Given the description of an element on the screen output the (x, y) to click on. 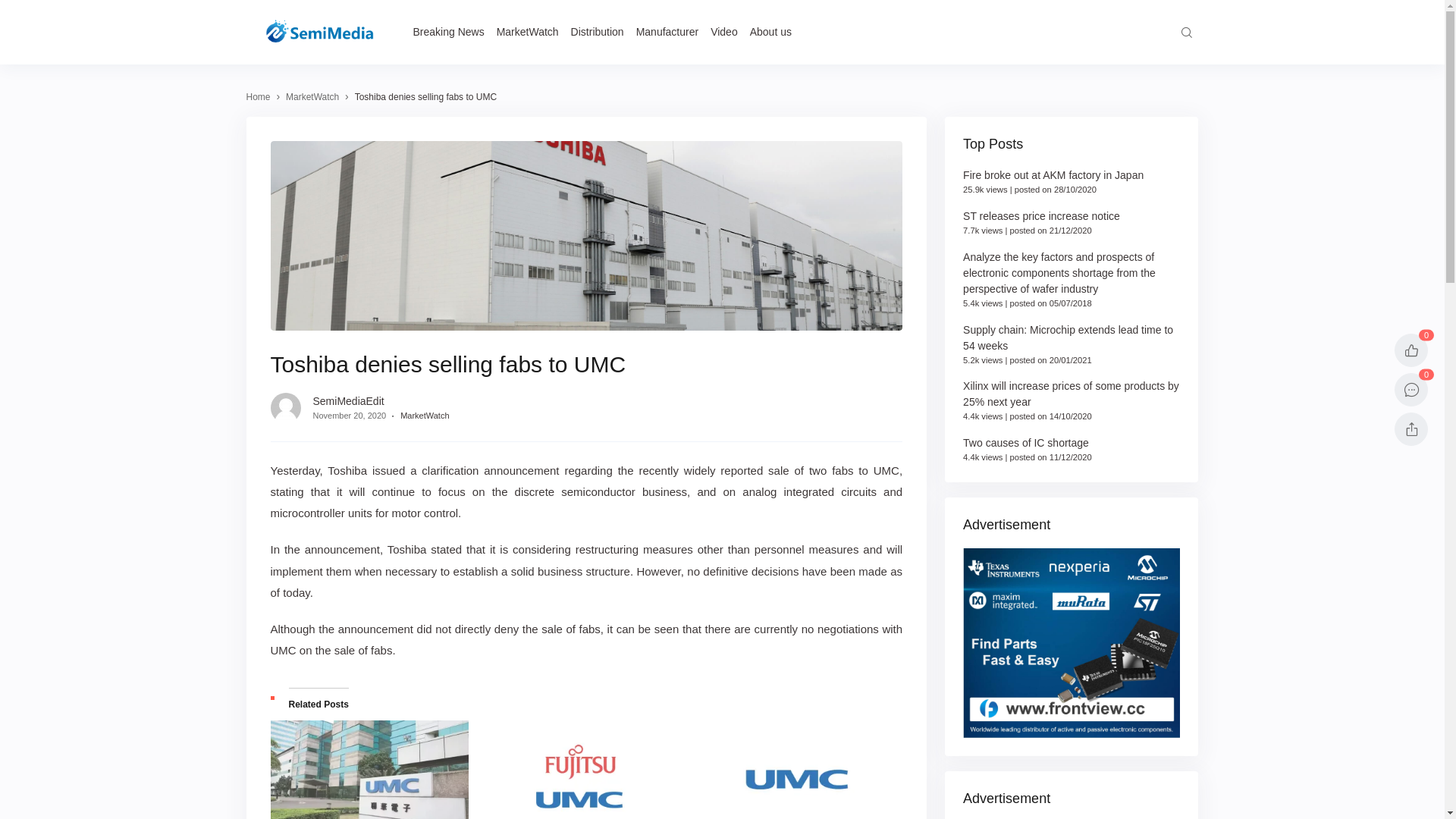
Two causes of IC shortage Element type: text (1025, 442)
Distribution Element type: text (597, 32)
Manufacturer Element type: text (667, 32)
Fire broke out at AKM factory in Japan Element type: text (1053, 175)
About us Element type: text (770, 32)
Breaking News Element type: text (447, 32)
Video Element type: text (723, 32)
Search Element type: hover (1185, 31)
MarketWatch Element type: text (527, 32)
MarketWatch Element type: text (424, 415)
Home Element type: text (257, 96)
0 Element type: text (1410, 350)
ST releases price increase notice Element type: text (1041, 216)
SemiMediaEdit Element type: text (347, 401)
MarketWatch Element type: text (311, 96)
0 Element type: text (1410, 389)
Supply chain: Microchip extends lead time to 54 weeks Element type: text (1068, 337)
